Given the description of an element on the screen output the (x, y) to click on. 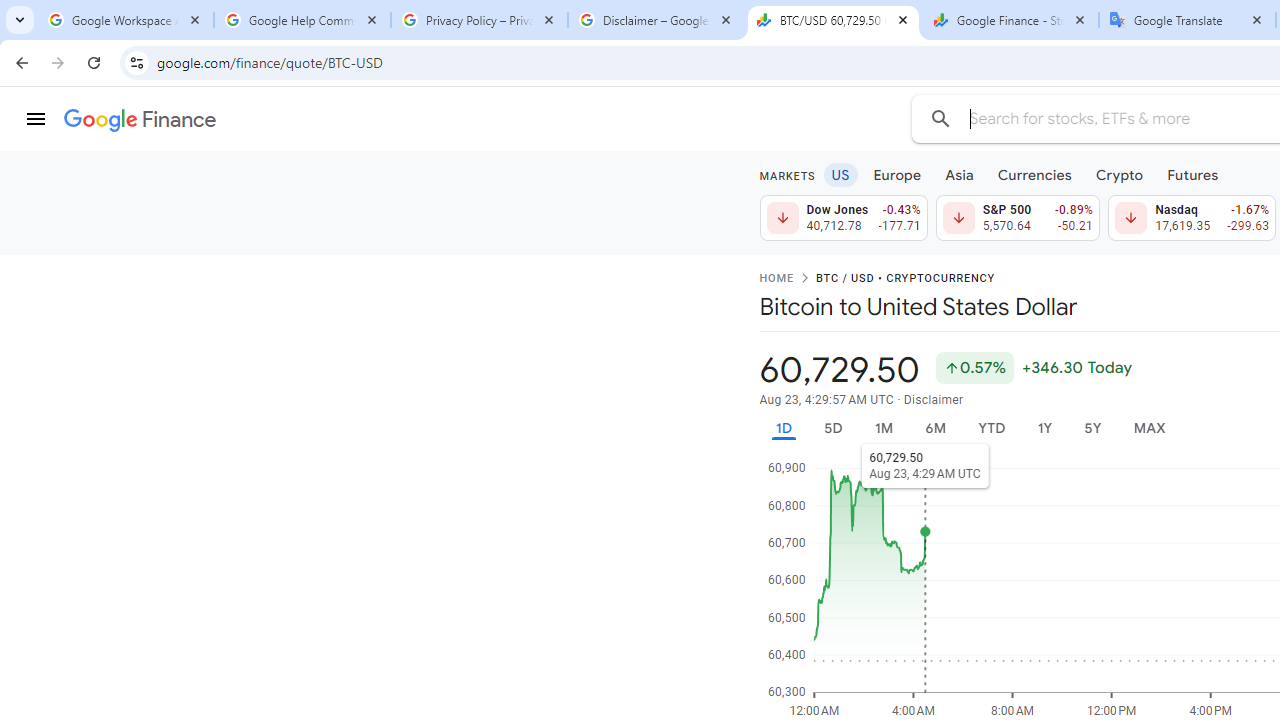
Europe (897, 174)
Futures (1192, 174)
Finance (140, 120)
Asia (958, 174)
S&P 500 5,570.64 Down by 0.89% -50.21 (1017, 218)
1D (783, 427)
